Given the description of an element on the screen output the (x, y) to click on. 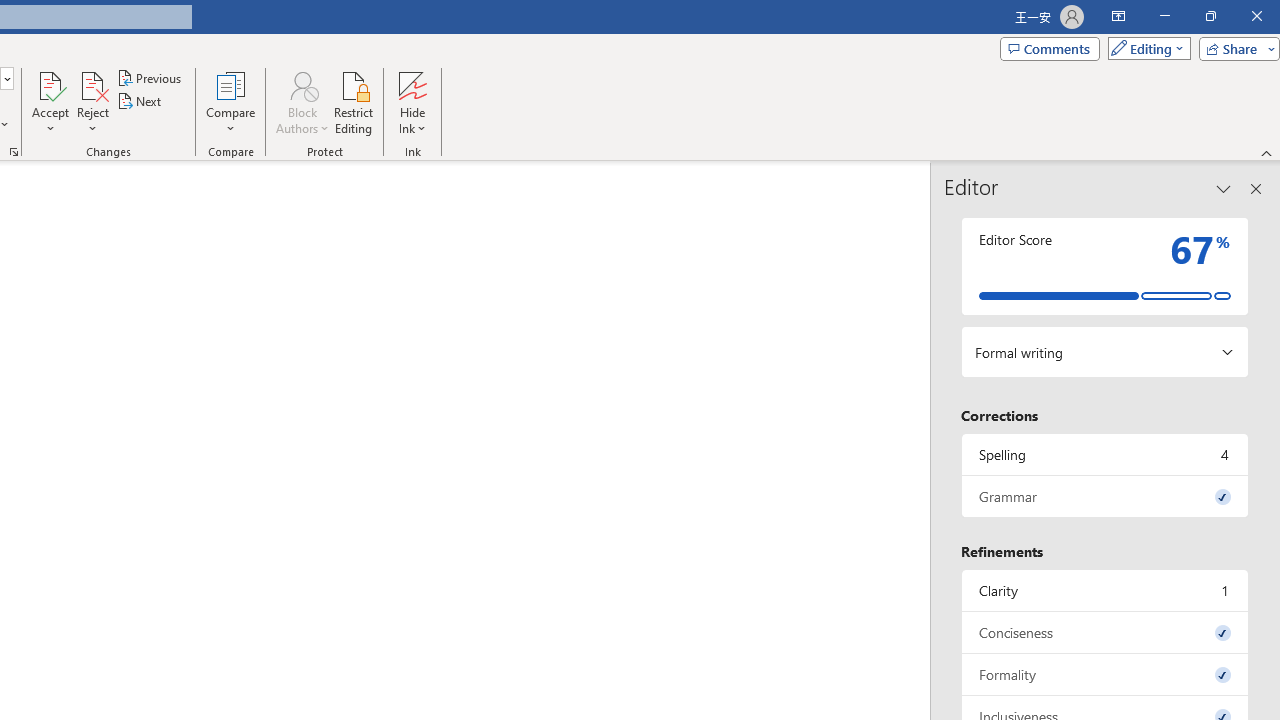
Reject (92, 102)
Conciseness, 0 issues. Press space or enter to review items. (1105, 632)
More Options (412, 121)
Hide Ink (412, 84)
Open (6, 78)
Restore Down (1210, 16)
Editor Score 67% (1105, 266)
Close pane (1256, 188)
Formality, 0 issues. Press space or enter to review items. (1105, 673)
Minimize (1164, 16)
Share (1235, 48)
Change Tracking Options... (13, 151)
Task Pane Options (1224, 188)
